Given the description of an element on the screen output the (x, y) to click on. 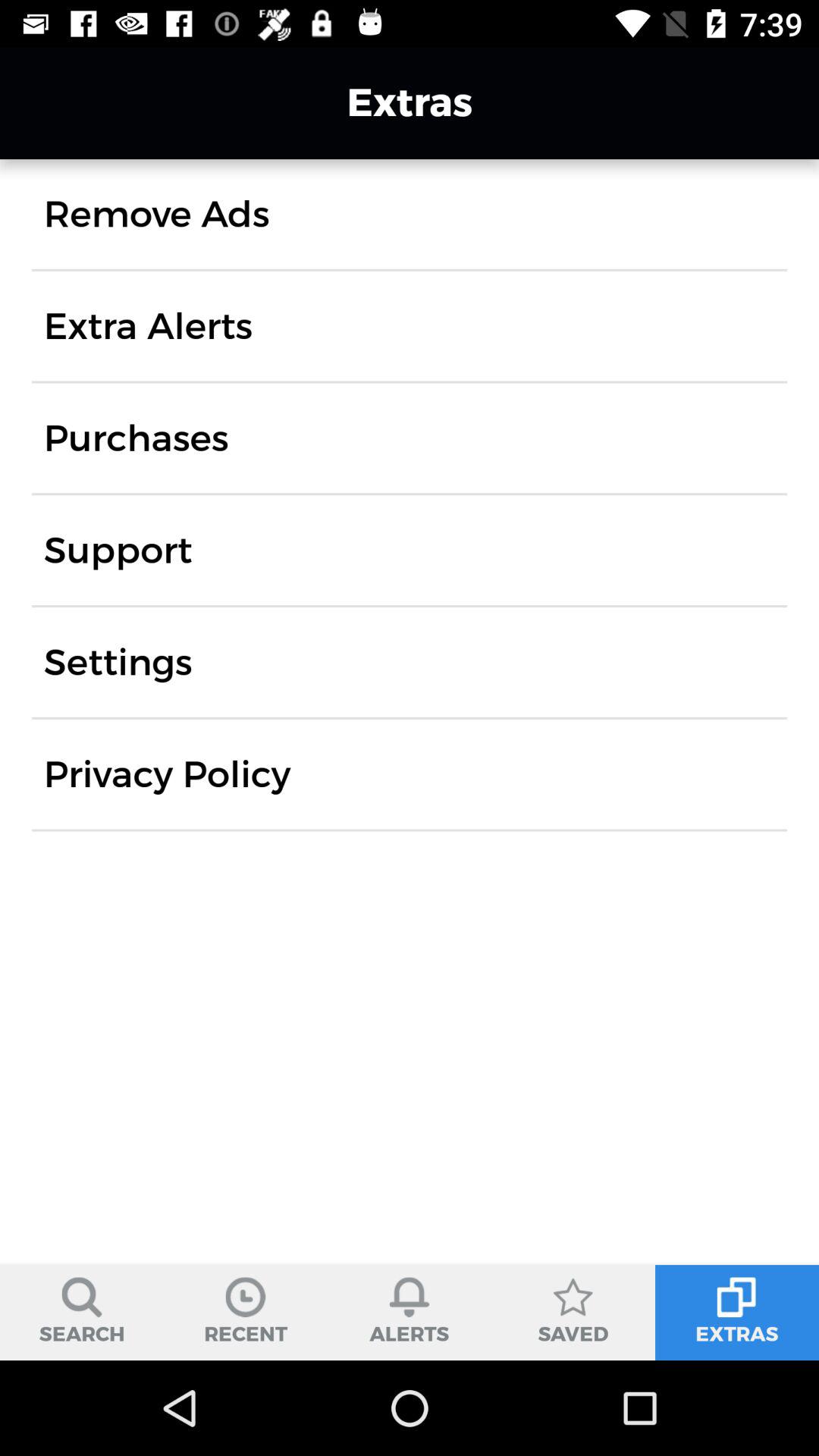
press the icon below the remove ads icon (147, 326)
